Given the description of an element on the screen output the (x, y) to click on. 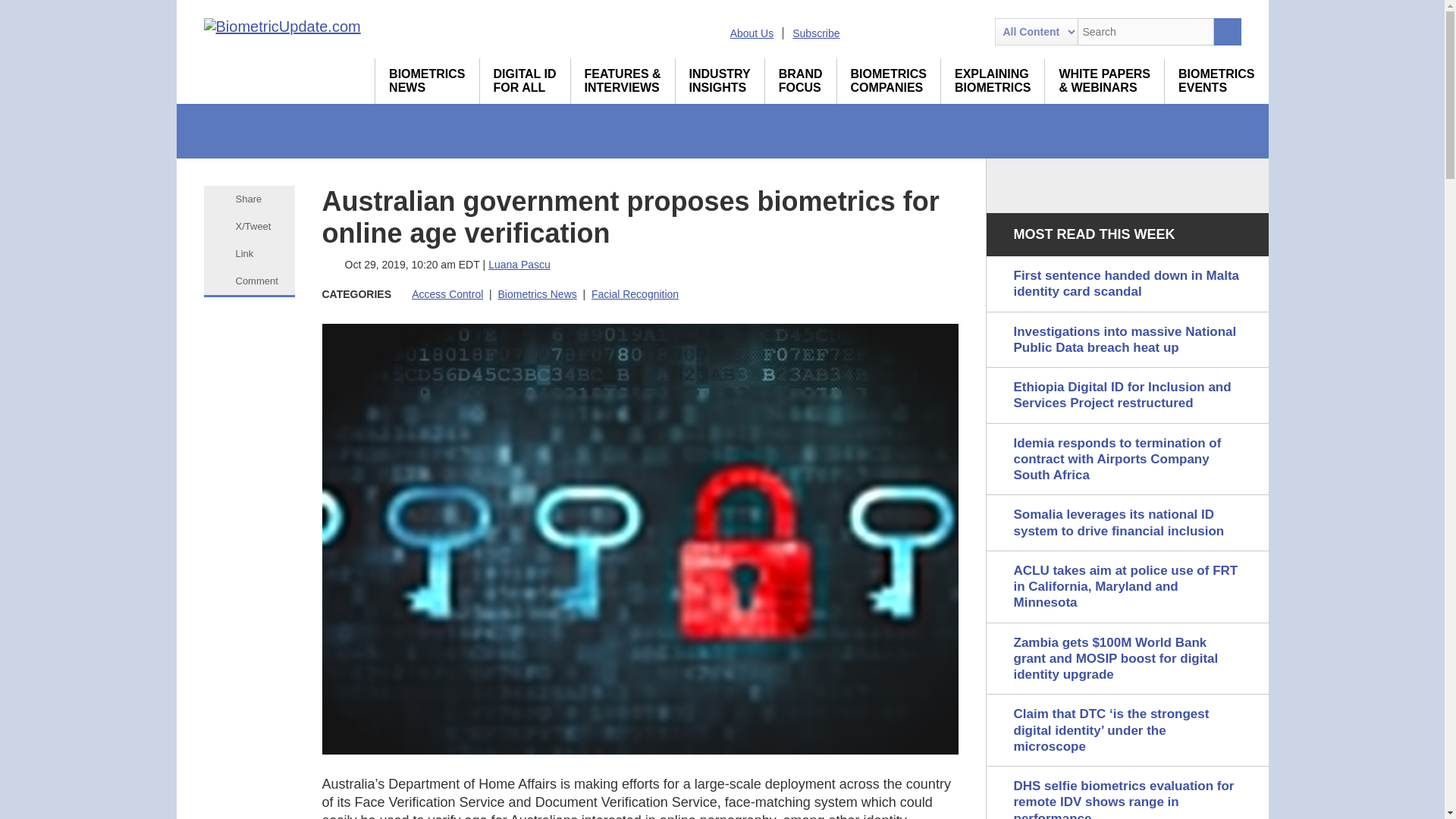
Biometrics companies, solutions and applications (888, 81)
About Us (751, 33)
Trade shows featuring biometrics technology (1216, 81)
linkedin (890, 31)
spotify (971, 31)
Guest posts written by biometrics industry experts  (719, 81)
facebook (944, 31)
rss (862, 31)
Daily biometrics news and interviews (427, 81)
Features, interviews and special reports (622, 81)
